Given the description of an element on the screen output the (x, y) to click on. 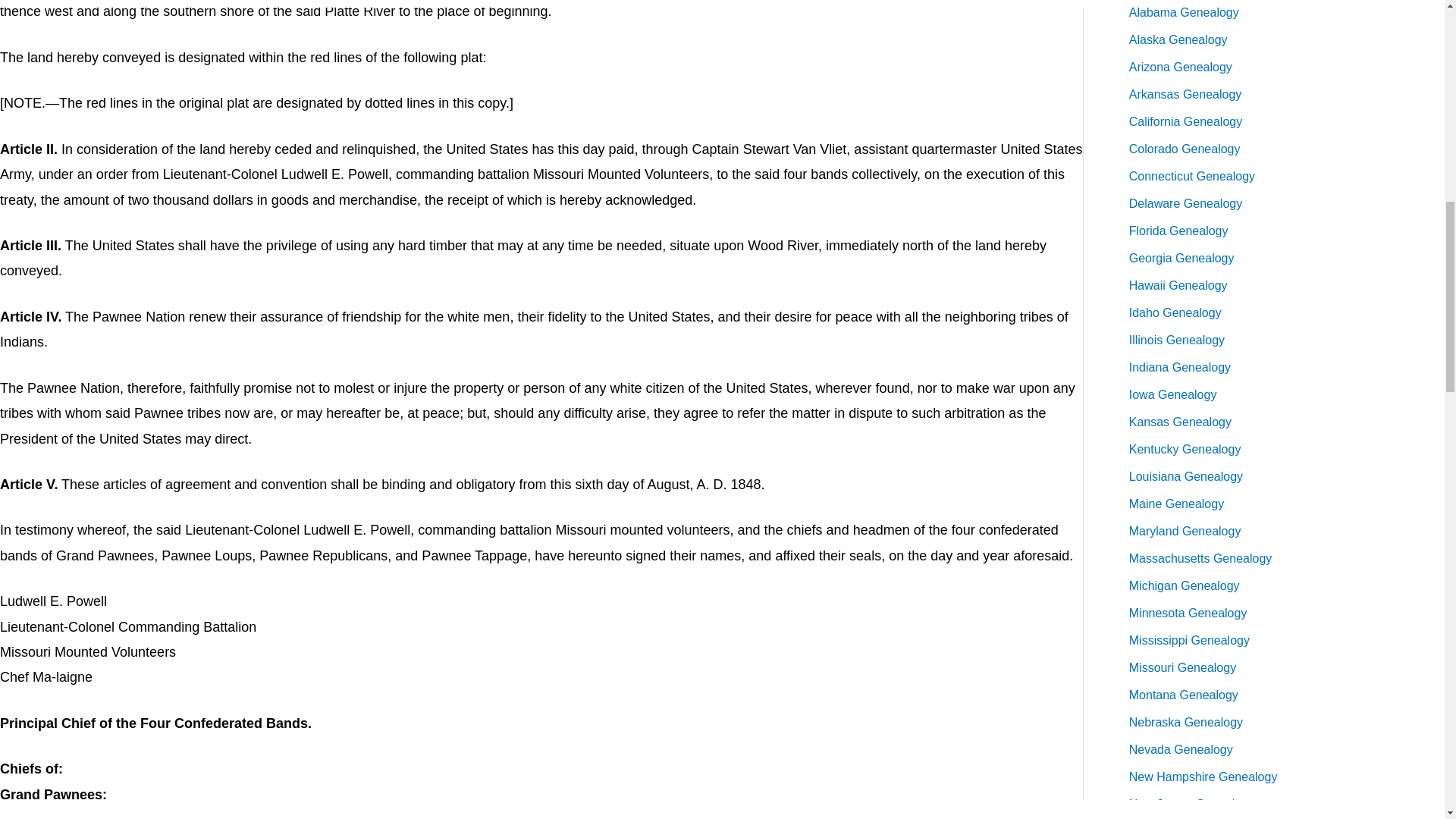
Alabama Genealogy (1184, 11)
Arizona Genealogy (1180, 66)
Florida Genealogy (1178, 230)
Alaska Genealogy (1178, 39)
Connecticut Genealogy (1192, 175)
Arkansas Genealogy (1185, 93)
California Genealogy (1185, 121)
Alaska Genealogy (1178, 39)
Georgia Genealogy (1181, 257)
Alabama Genealogy (1184, 11)
Illinois Genealogy (1176, 339)
Idaho Genealogy (1175, 312)
Colorado Genealogy (1184, 148)
Indiana Genealogy (1179, 367)
Arizona Genealogy (1180, 66)
